Given the description of an element on the screen output the (x, y) to click on. 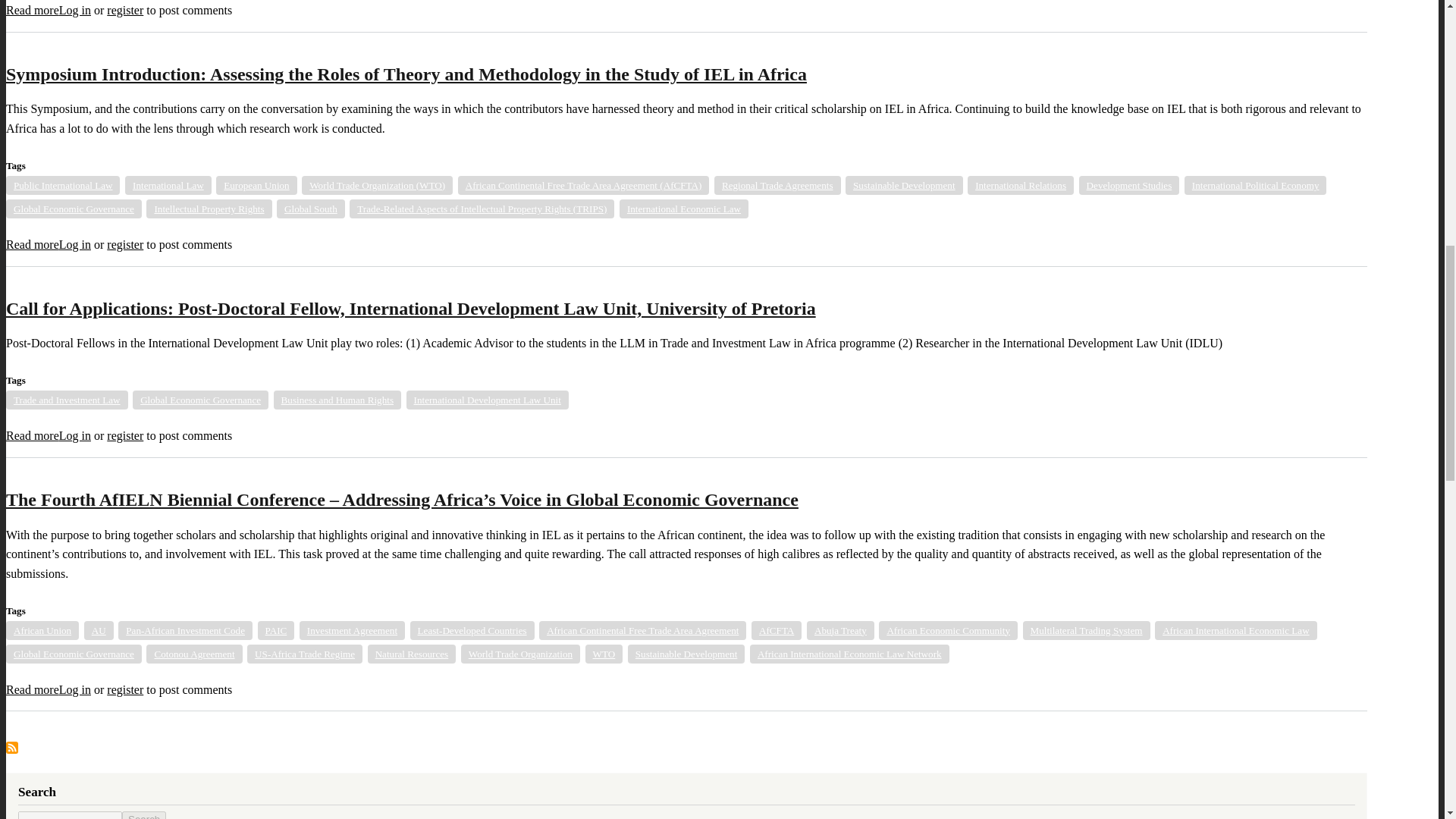
register (124, 10)
Log in (74, 10)
Enter the terms you wish to search for. (69, 815)
